Given the description of an element on the screen output the (x, y) to click on. 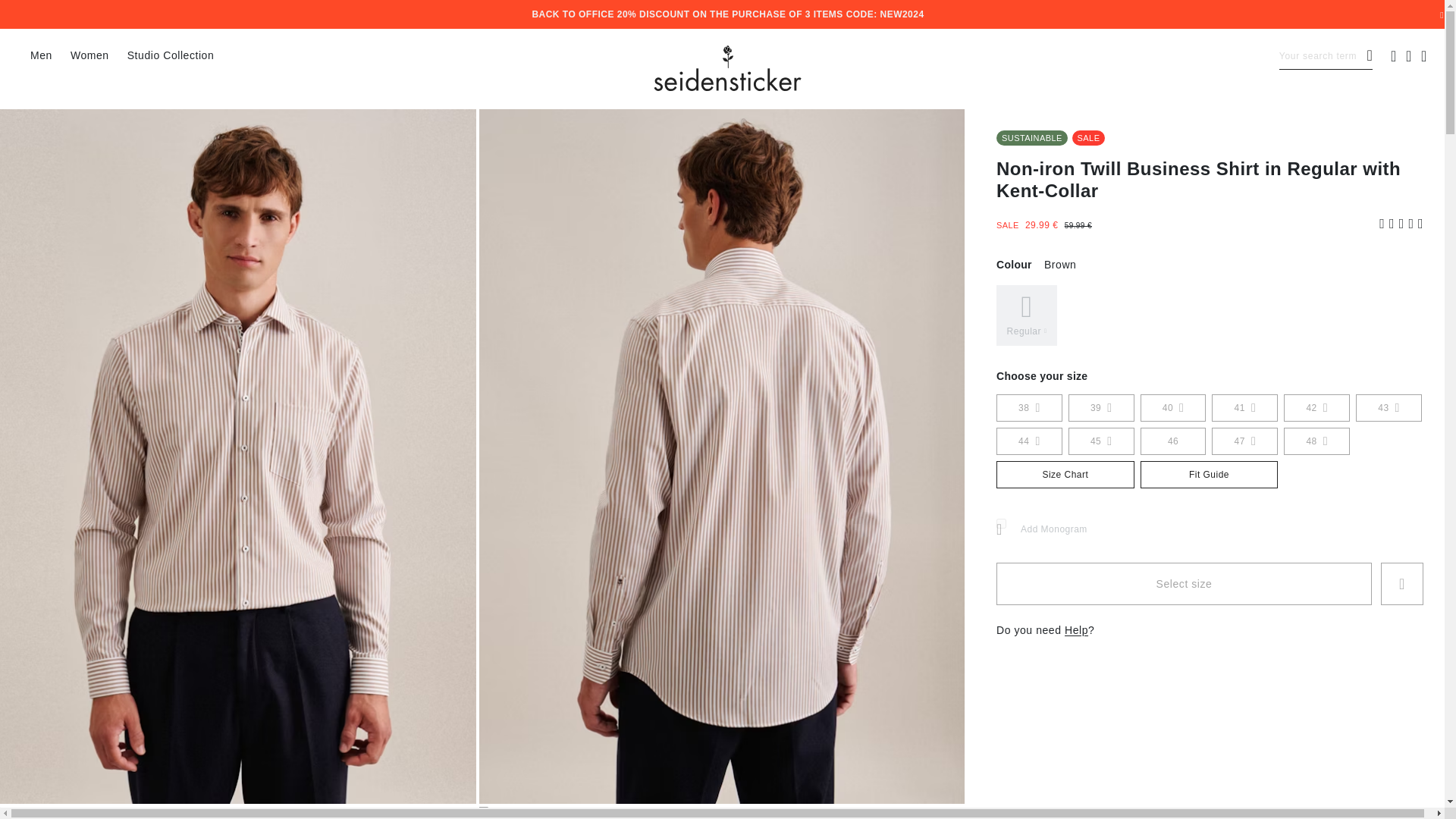
on (1000, 523)
Please choose a size (1401, 583)
Please choose a size (1183, 583)
